Given the description of an element on the screen output the (x, y) to click on. 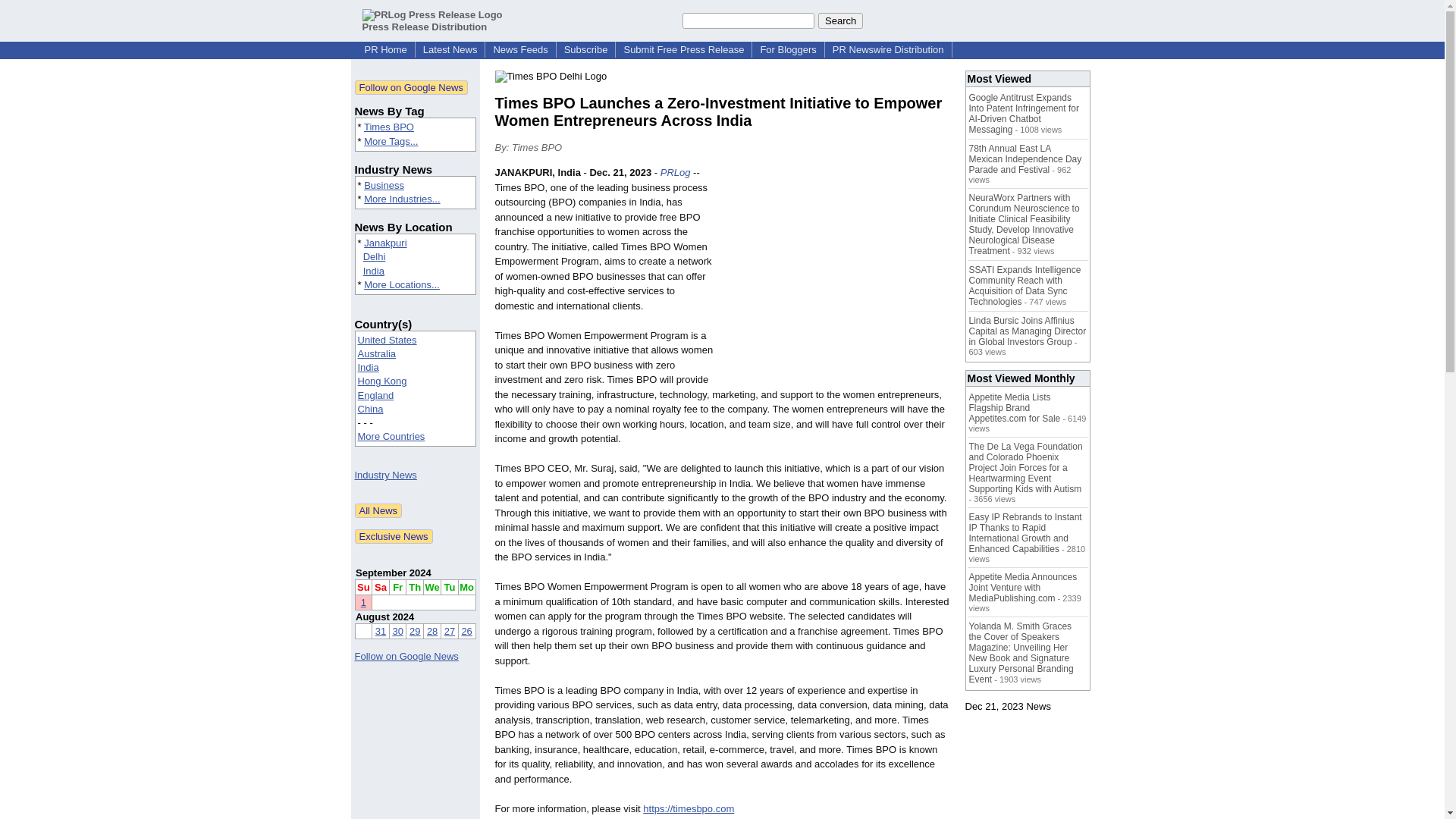
Follow on Google News (406, 655)
Times BPO (388, 126)
Janakpuri (385, 242)
PR Home (385, 49)
Submit Free Press Release (683, 49)
PR Newswire Distribution (888, 49)
Search (840, 20)
Exclusive News (393, 536)
Delhi (373, 256)
Search (840, 20)
